Given the description of an element on the screen output the (x, y) to click on. 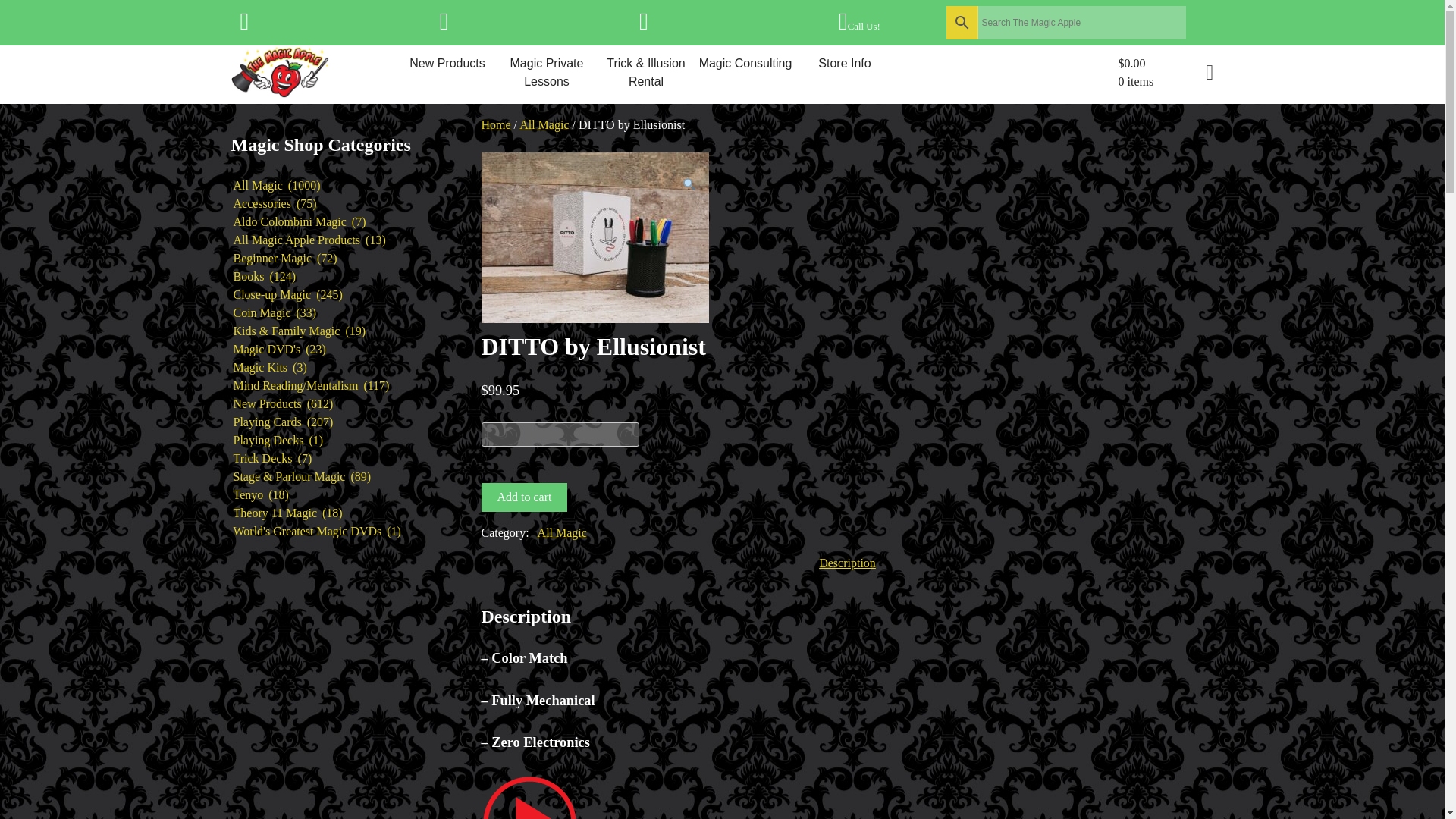
Magic Private Lessons (546, 72)
New Products (446, 63)
View your shopping cart (1165, 72)
Ditto-4 (593, 237)
Store Info (843, 63)
Magic Consulting (744, 63)
1 (559, 434)
Call Us! (859, 25)
